Given the description of an element on the screen output the (x, y) to click on. 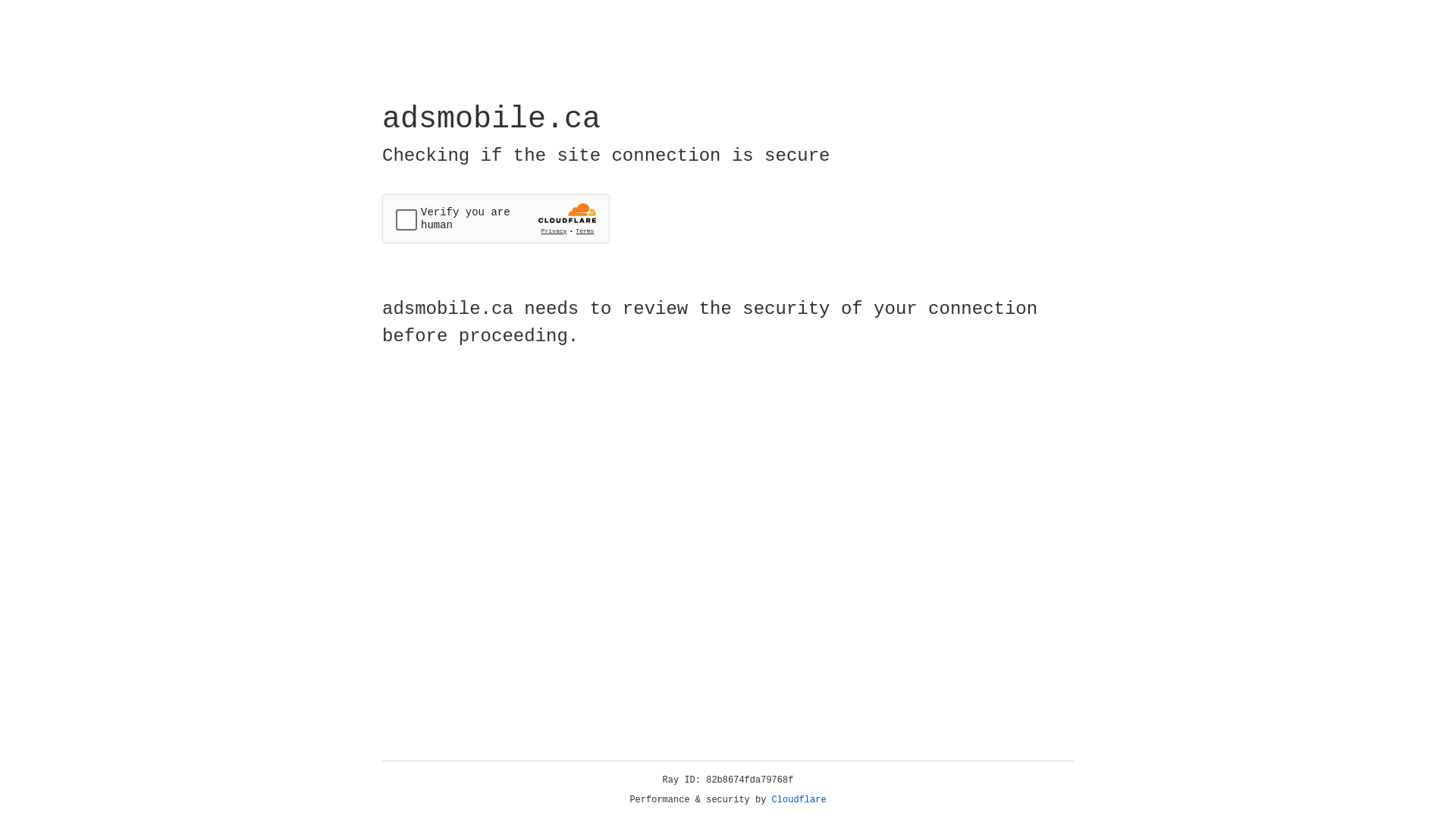
Cloudflare Element type: text (798, 799)
Widget containing a Cloudflare security challenge Element type: hover (495, 218)
